Given the description of an element on the screen output the (x, y) to click on. 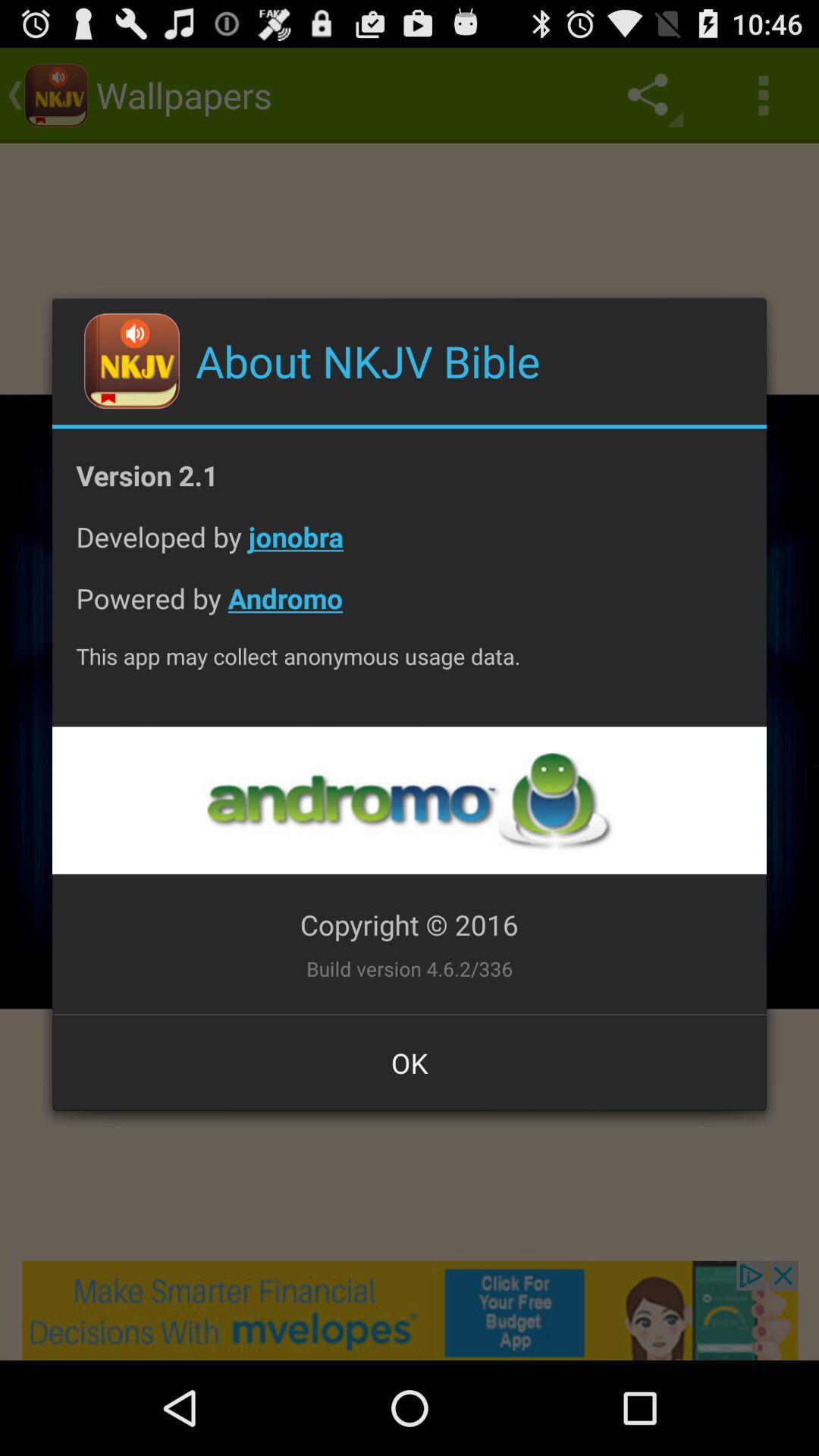
tap the developed by jonobra item (409, 548)
